Given the description of an element on the screen output the (x, y) to click on. 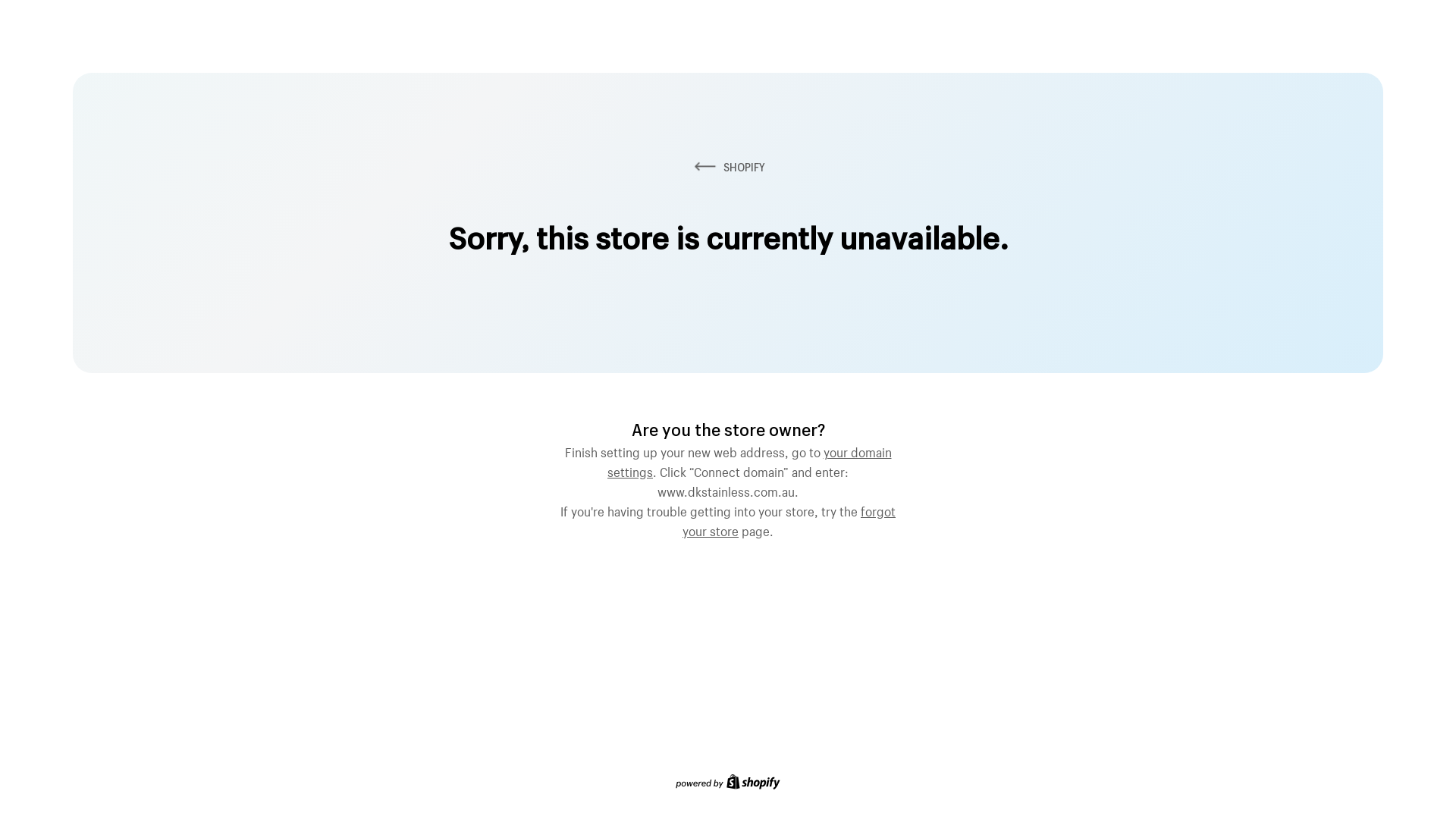
forgot your store Element type: text (788, 519)
SHOPIFY Element type: text (727, 167)
your domain settings Element type: text (749, 460)
